Given the description of an element on the screen output the (x, y) to click on. 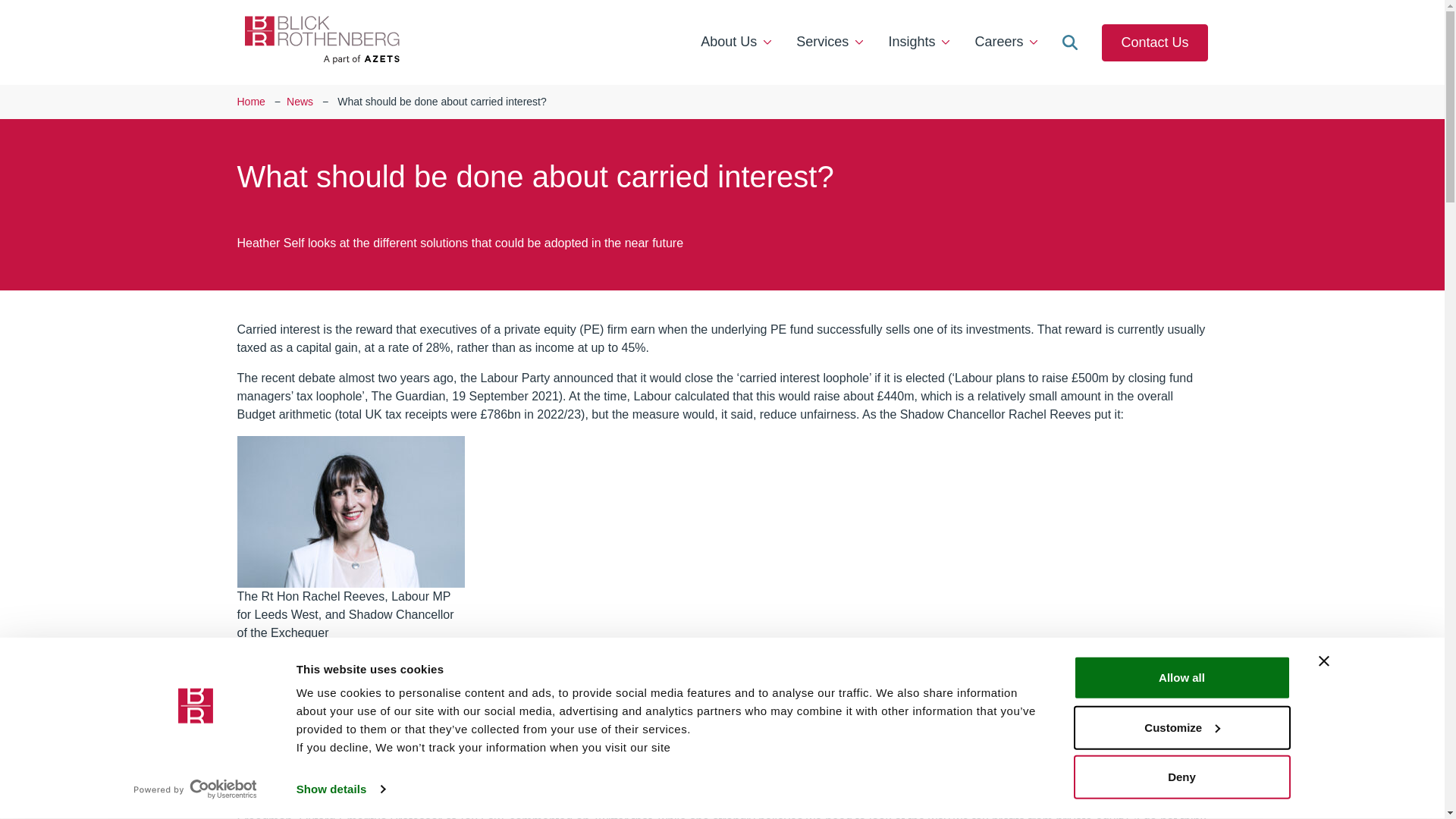
Show details (340, 789)
